Given the description of an element on the screen output the (x, y) to click on. 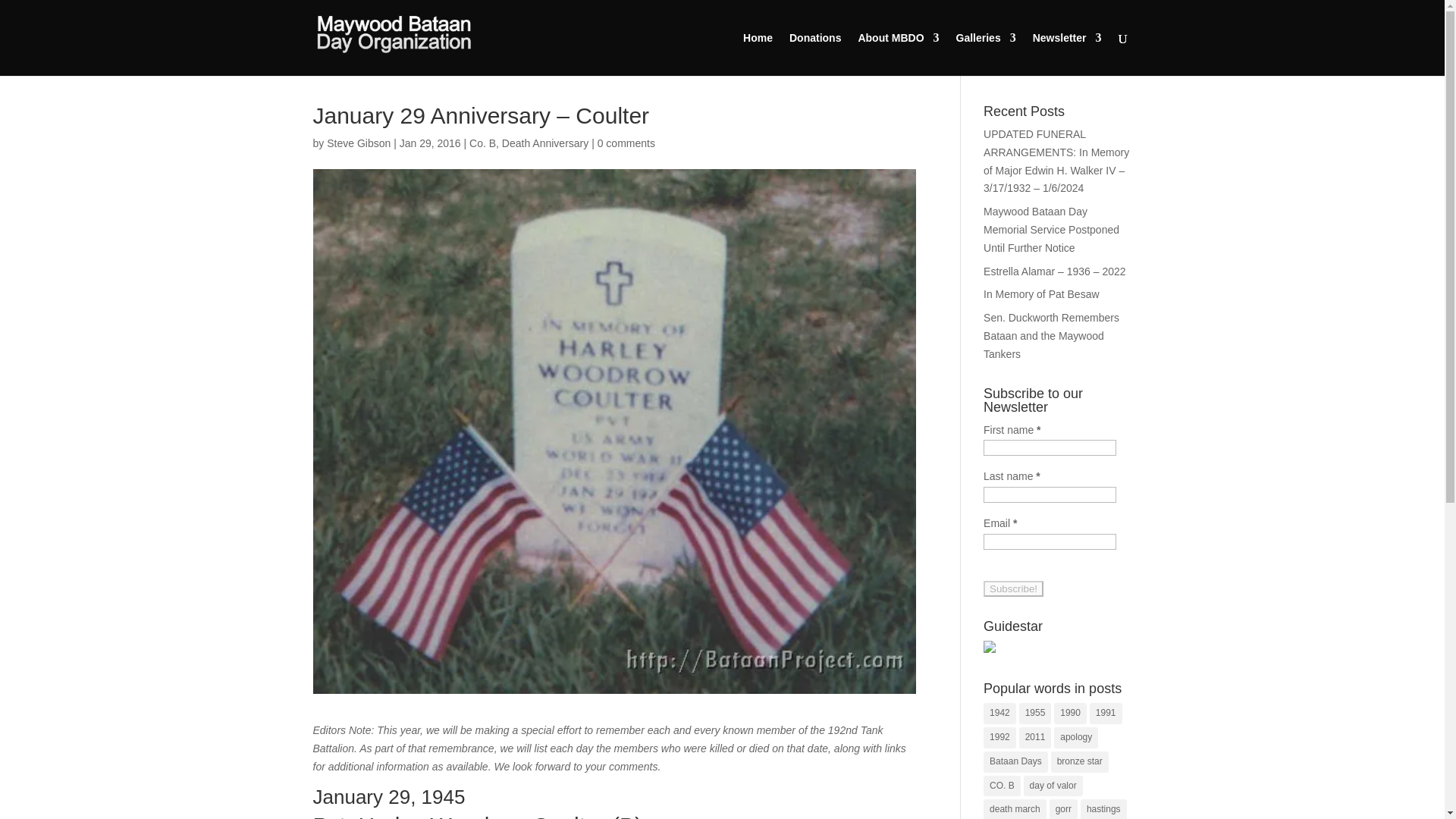
First name (1050, 447)
Galleries (986, 54)
Posts by Steve Gibson (358, 143)
Subscribe! (1013, 588)
About MBDO (898, 54)
Death Anniversary (545, 143)
Steve Gibson (358, 143)
Co. B (482, 143)
0 comments (625, 143)
Email (1050, 541)
